Given the description of an element on the screen output the (x, y) to click on. 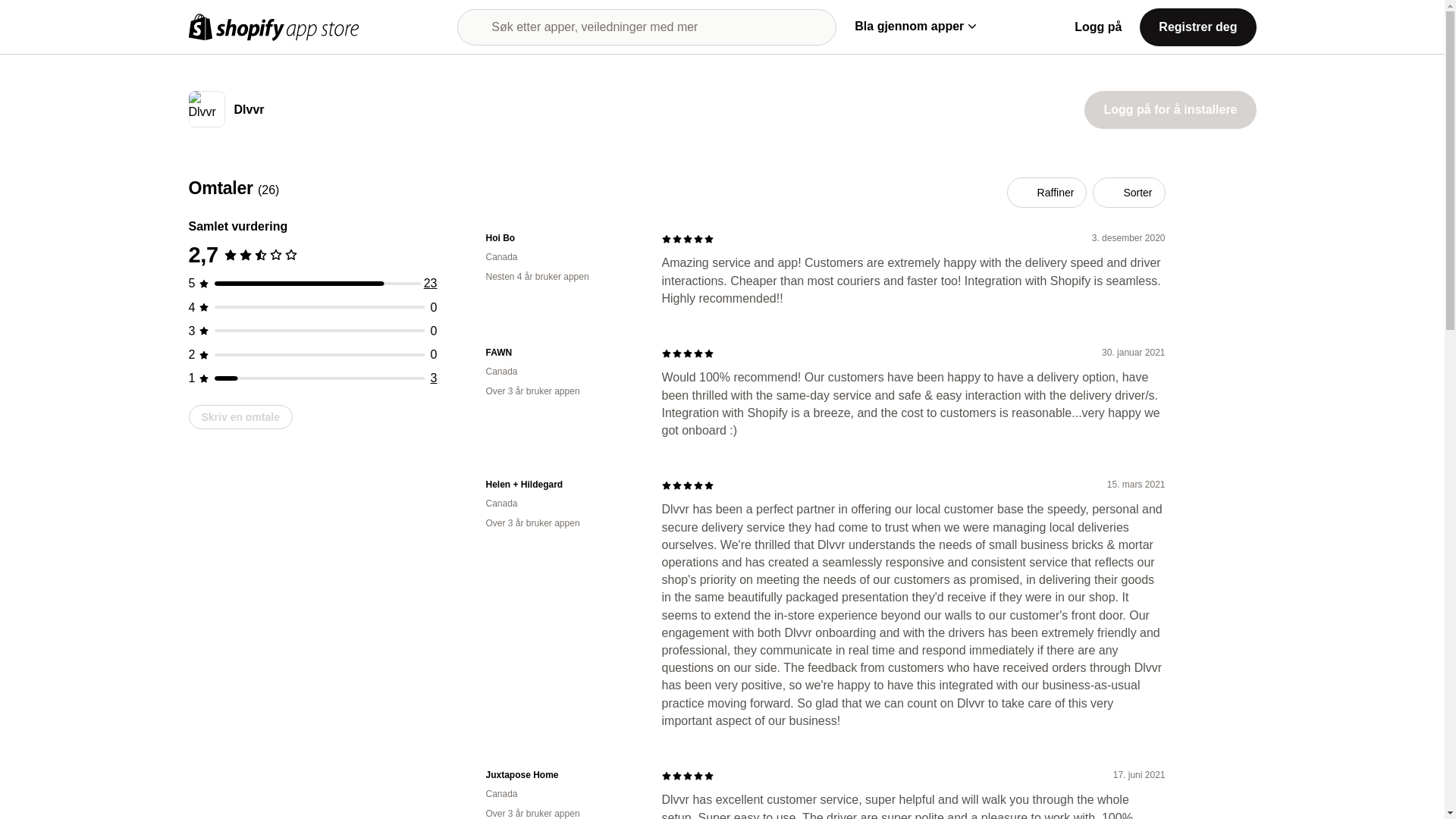
Hoi Bo (560, 237)
Skriv en omtale (239, 416)
Raffiner (1047, 192)
23 (430, 282)
Bla gjennom apper (914, 26)
Registrer deg (1197, 26)
Sorter (1128, 192)
Dlvvr (247, 110)
Juxtapose Home (560, 775)
FAWN (560, 352)
